Given the description of an element on the screen output the (x, y) to click on. 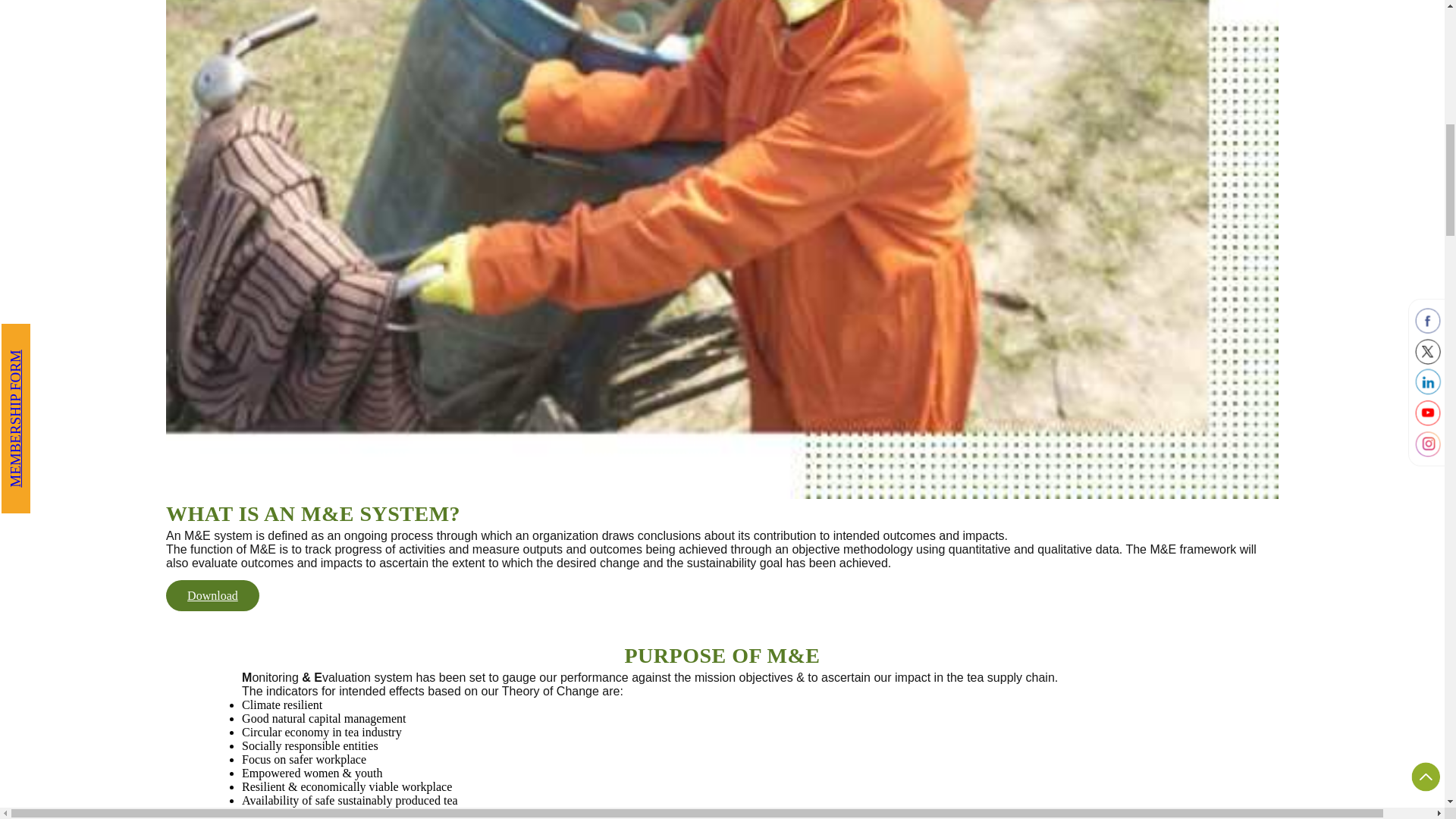
Download (212, 595)
